Given the description of an element on the screen output the (x, y) to click on. 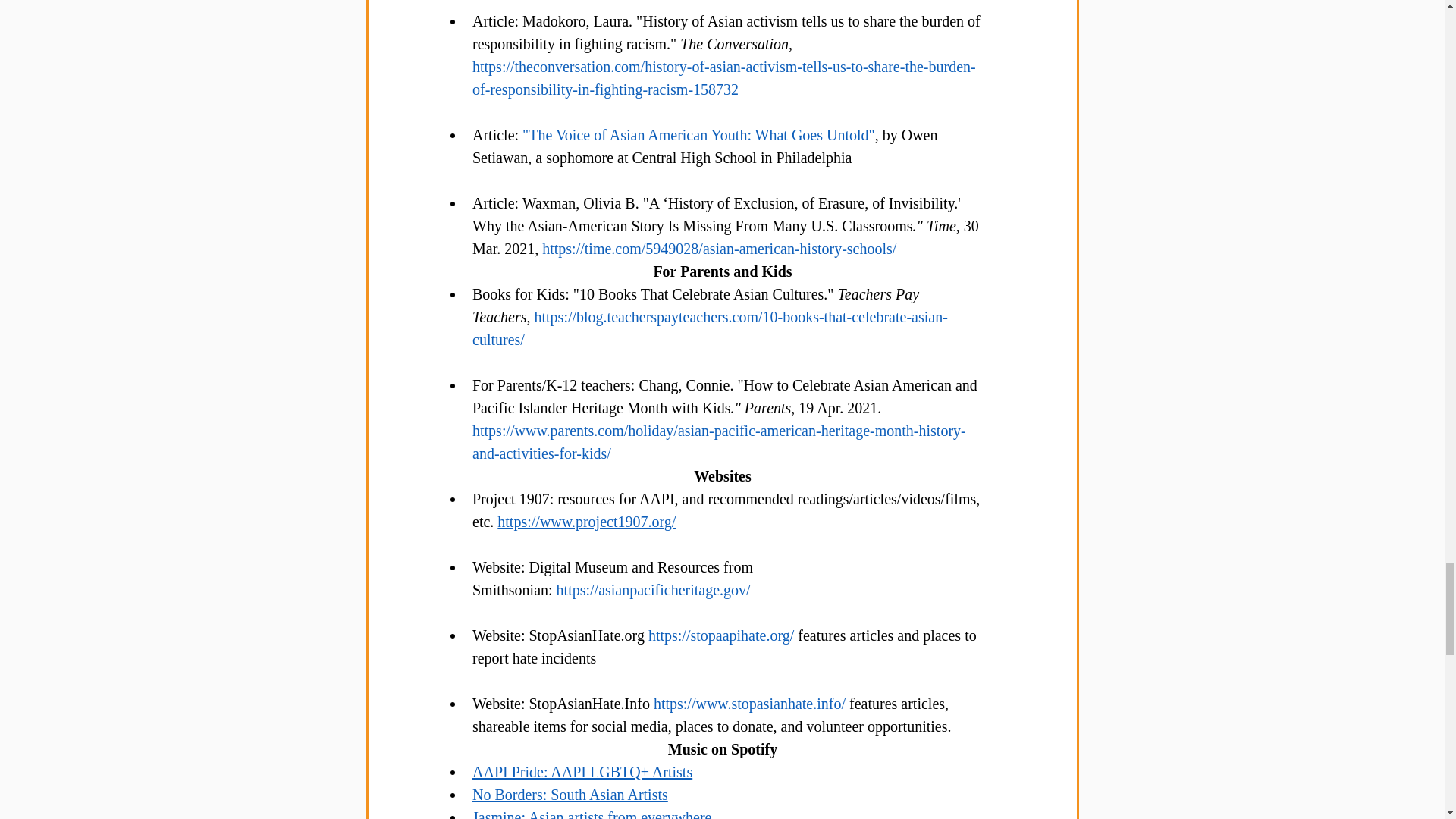
No Borders: South Asian Artists (568, 794)
Jasmine: Asian artists from everywhere (590, 814)
"The Voice of Asian American Youth: What Goes Untold" (698, 134)
